Given the description of an element on the screen output the (x, y) to click on. 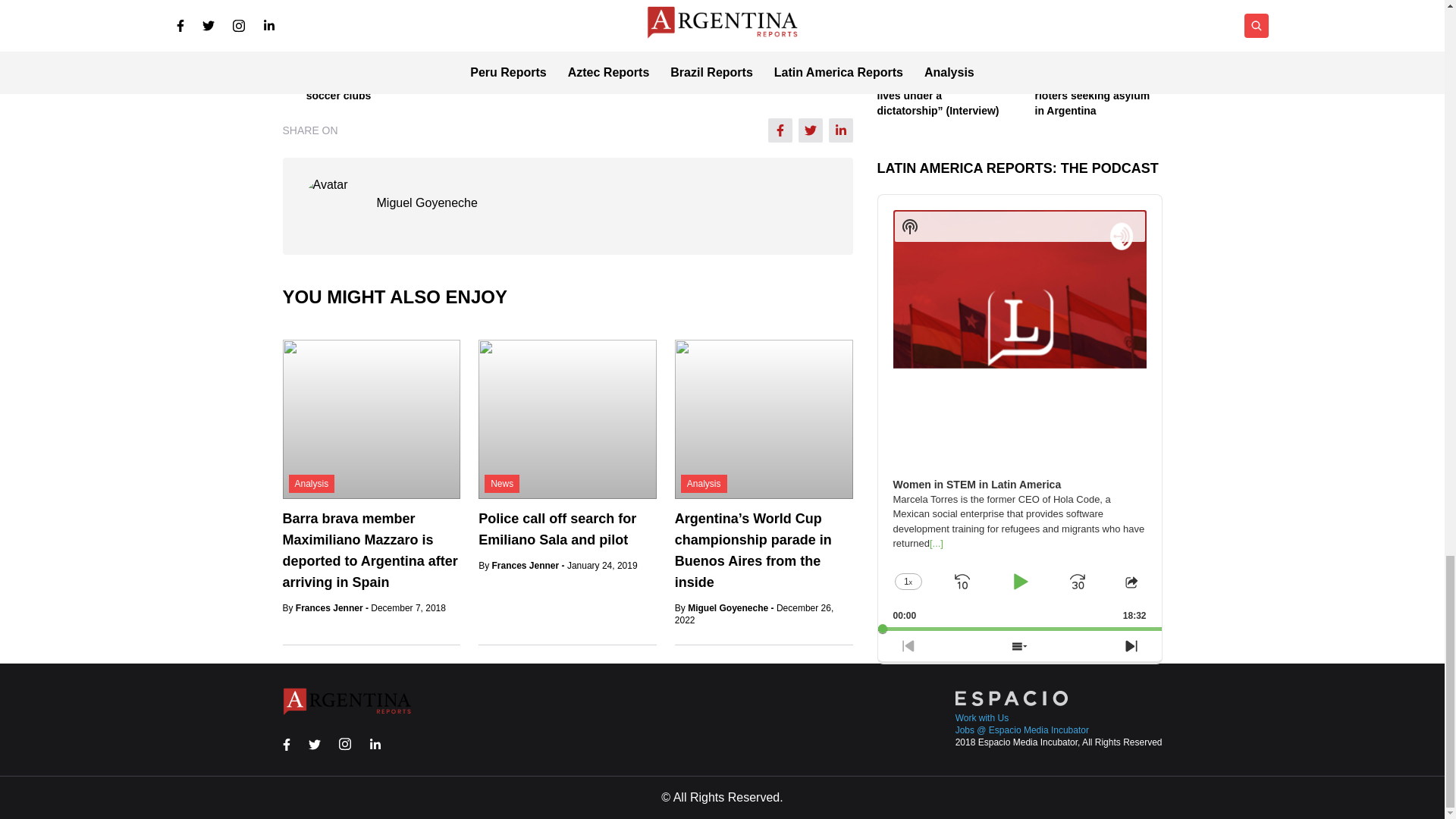
Analysis (311, 484)
Frances Jenner - (333, 607)
Miguel Goyeneche (426, 203)
